Given the description of an element on the screen output the (x, y) to click on. 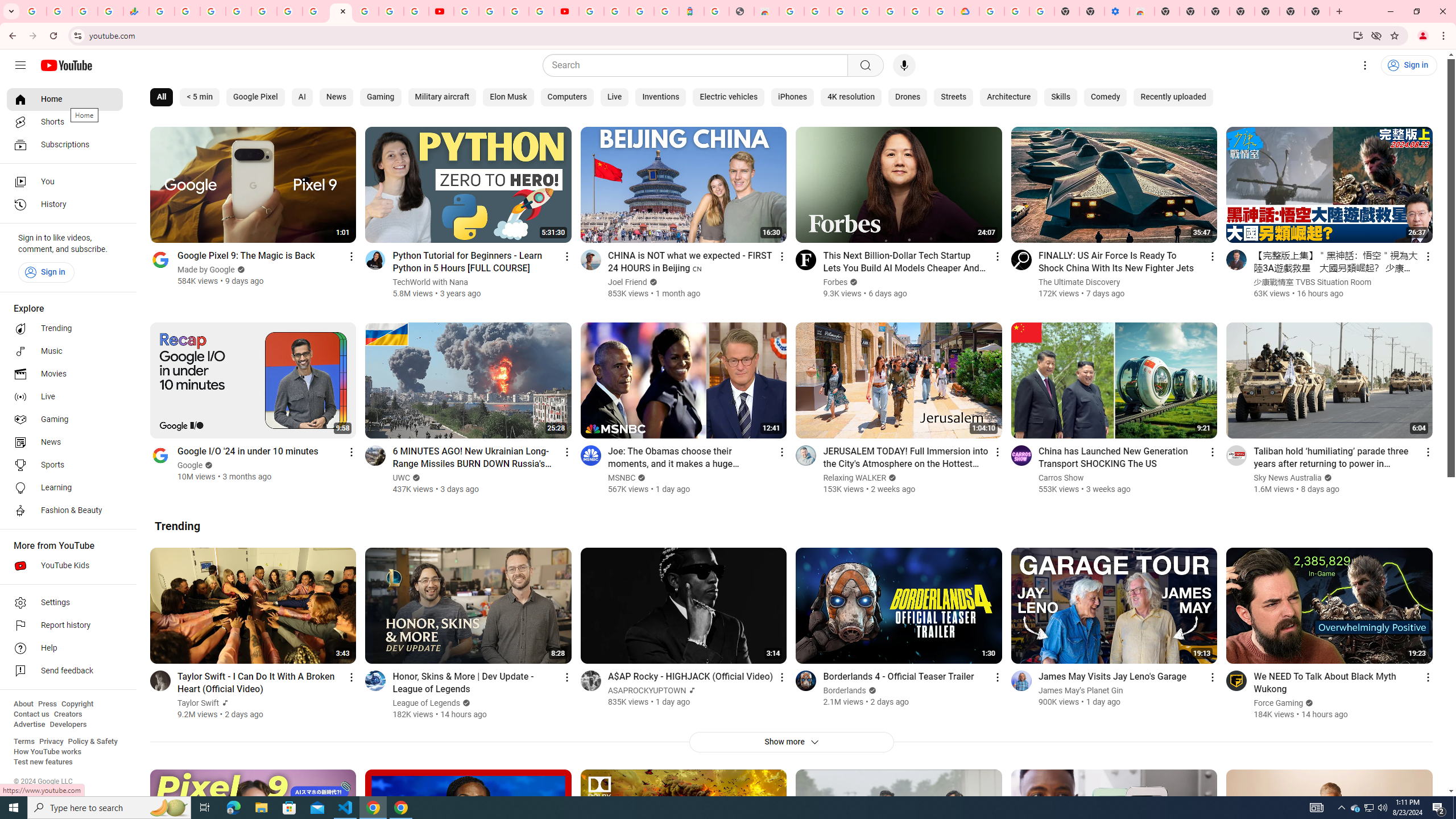
Computers (567, 97)
Verified (1308, 702)
Forbes (835, 282)
Trending (177, 525)
All (161, 97)
Sky News Australia (1287, 477)
